Given the description of an element on the screen output the (x, y) to click on. 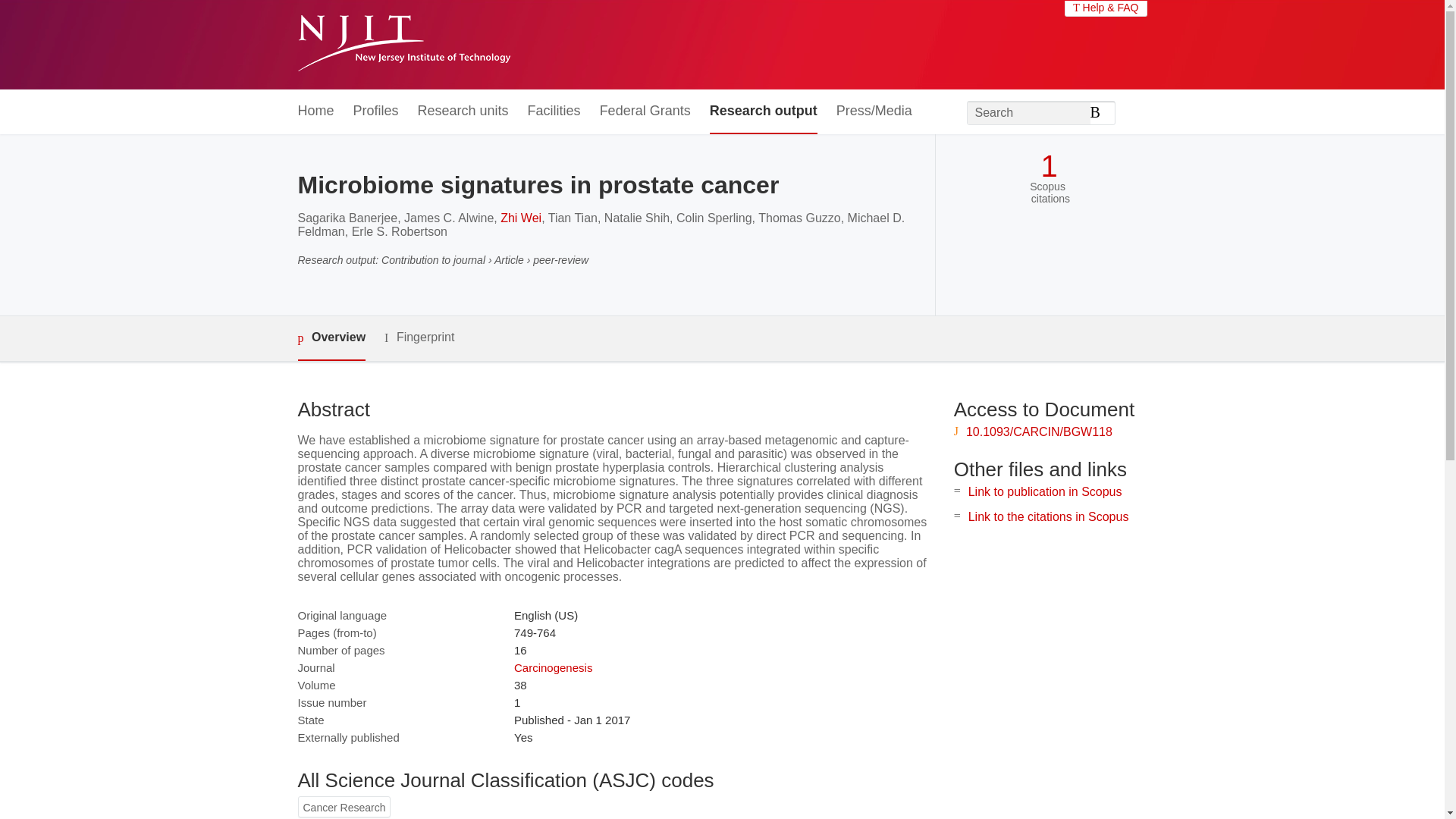
Research units (462, 111)
Zhi Wei (520, 217)
Overview (331, 338)
Link to publication in Scopus (1045, 491)
Link to the citations in Scopus (1048, 516)
New Jersey Institute of Technology Home (403, 44)
Profiles (375, 111)
Facilities (553, 111)
Carcinogenesis (552, 667)
Fingerprint (419, 337)
Federal Grants (644, 111)
Research output (763, 111)
